Given the description of an element on the screen output the (x, y) to click on. 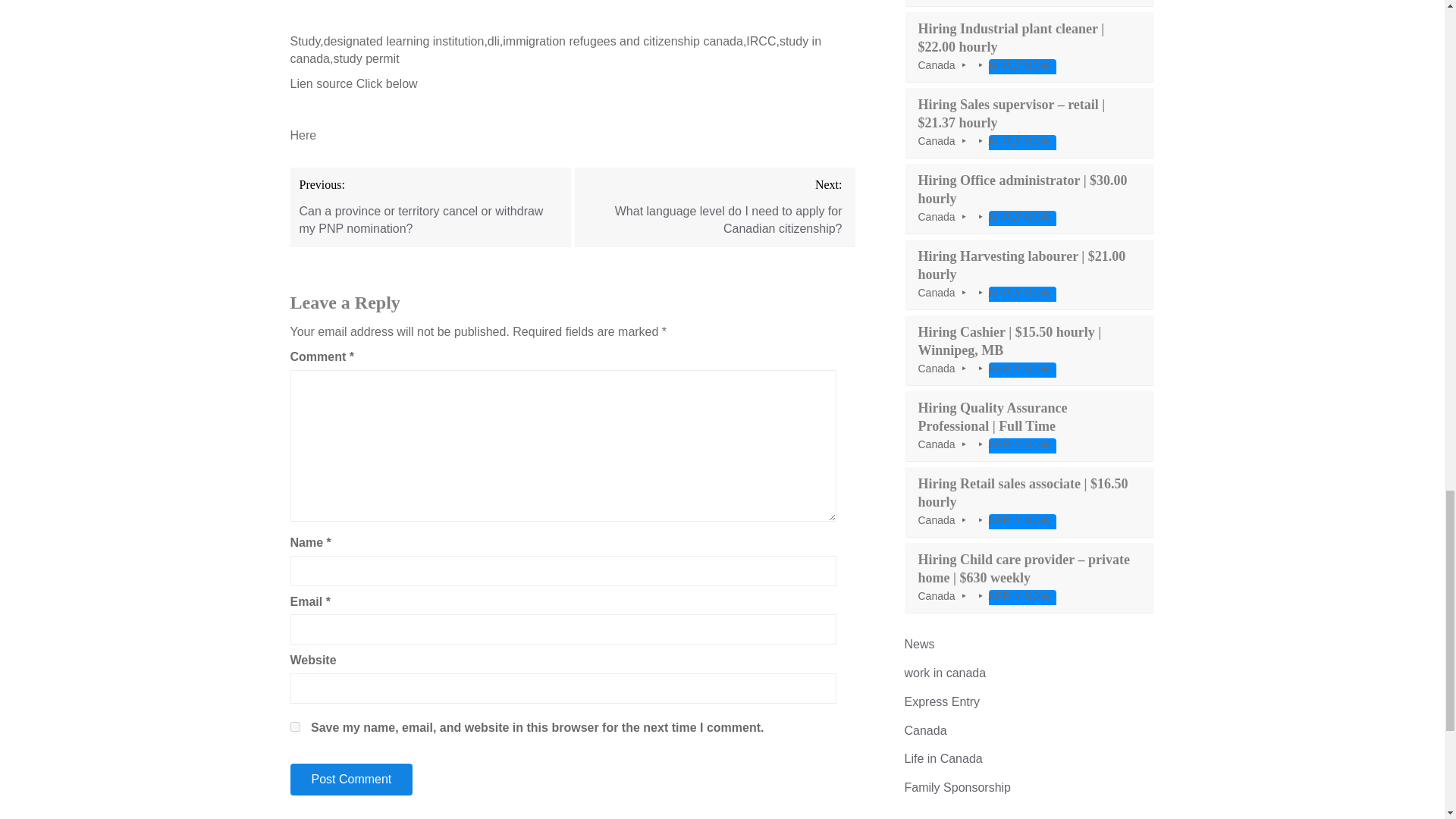
Post Comment (350, 779)
yes (294, 726)
Post Comment (350, 779)
Here (302, 134)
